Given the description of an element on the screen output the (x, y) to click on. 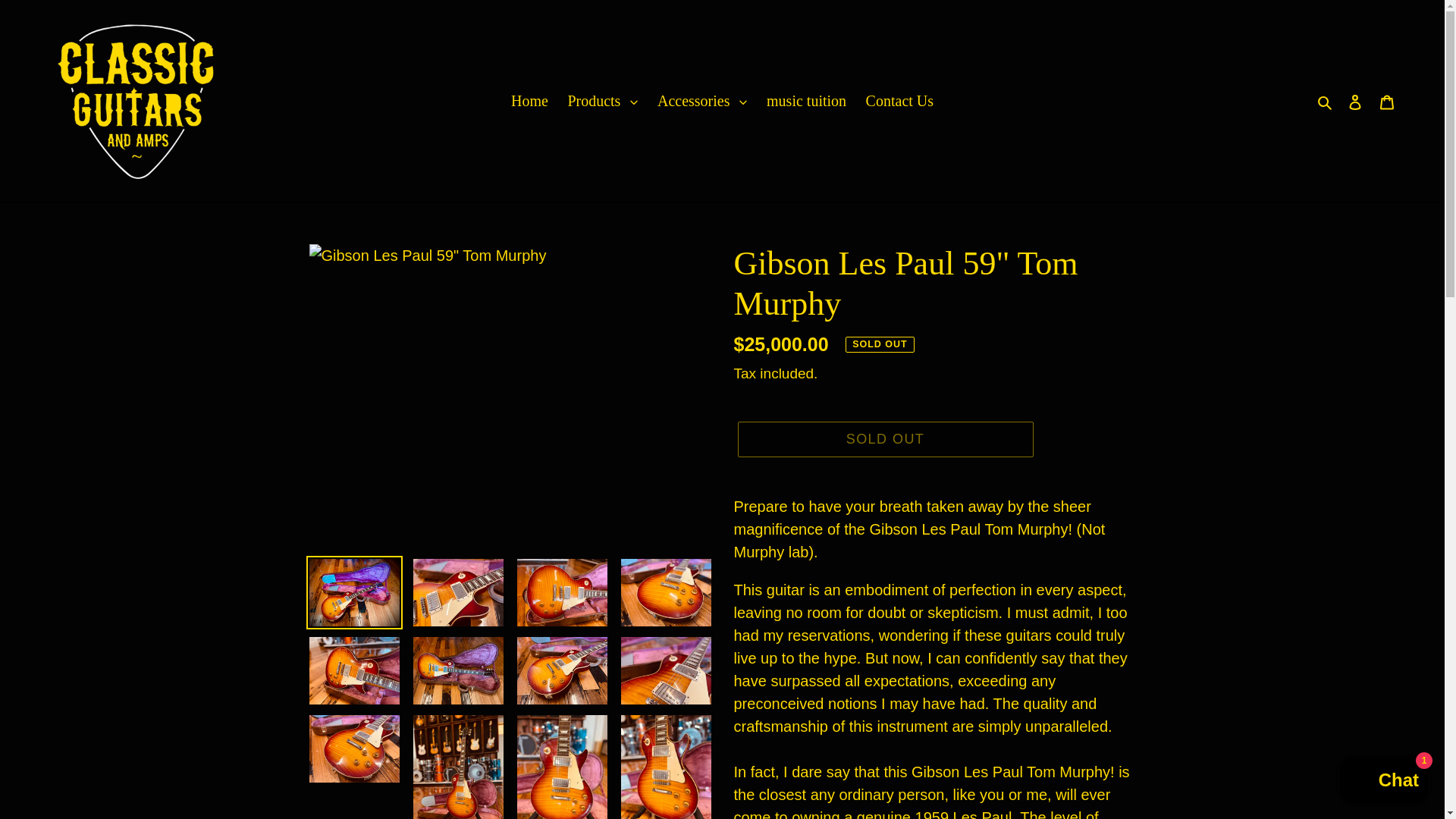
Home (529, 100)
Log in (1355, 100)
Accessories (702, 100)
music tuition (805, 100)
Shopify online store chat (1383, 781)
Cart (1387, 100)
Search (1326, 100)
Products (602, 100)
Contact Us (899, 100)
